Given the description of an element on the screen output the (x, y) to click on. 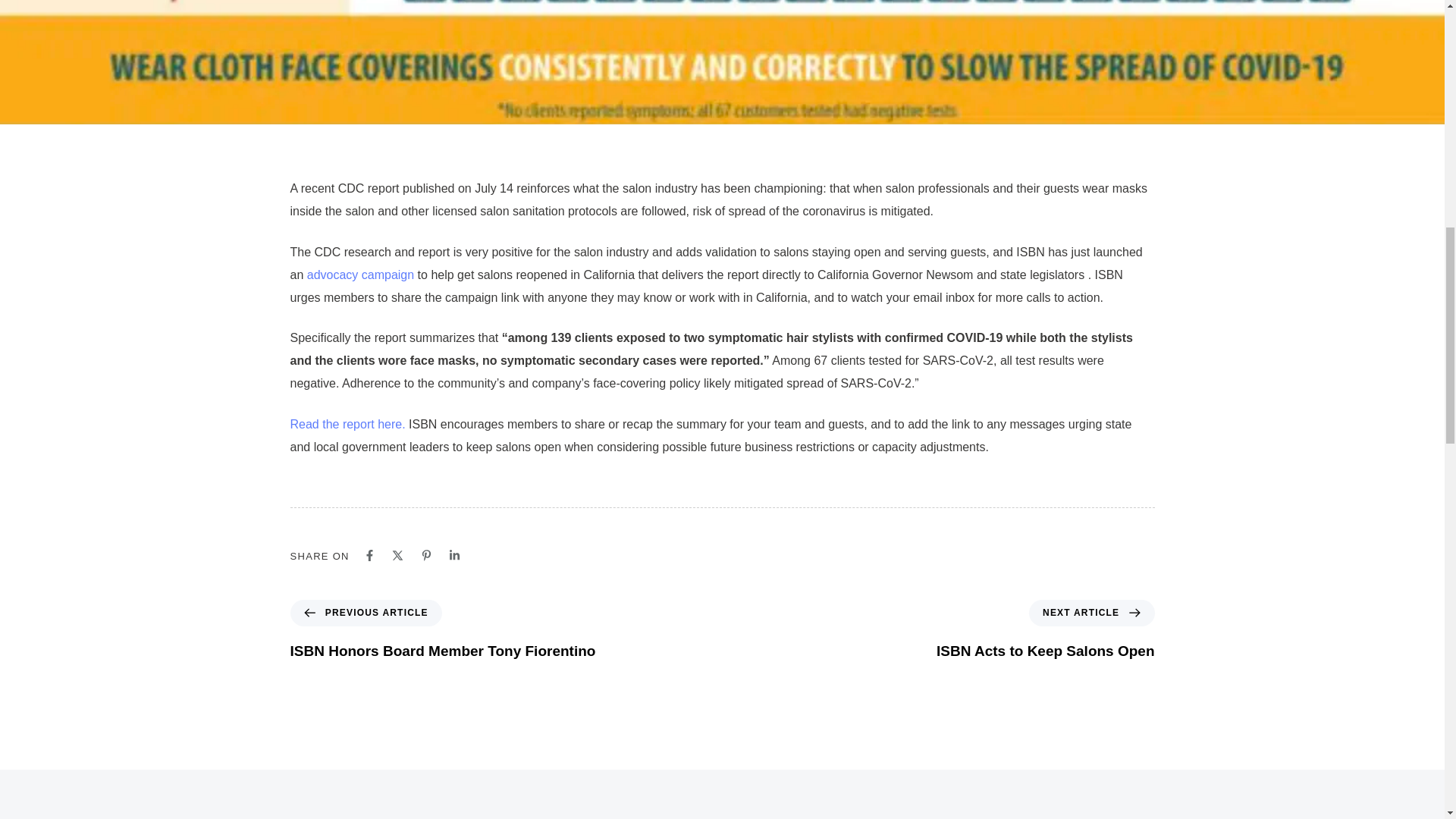
Read the report here. (346, 423)
advocacy campaign (360, 274)
